Given the description of an element on the screen output the (x, y) to click on. 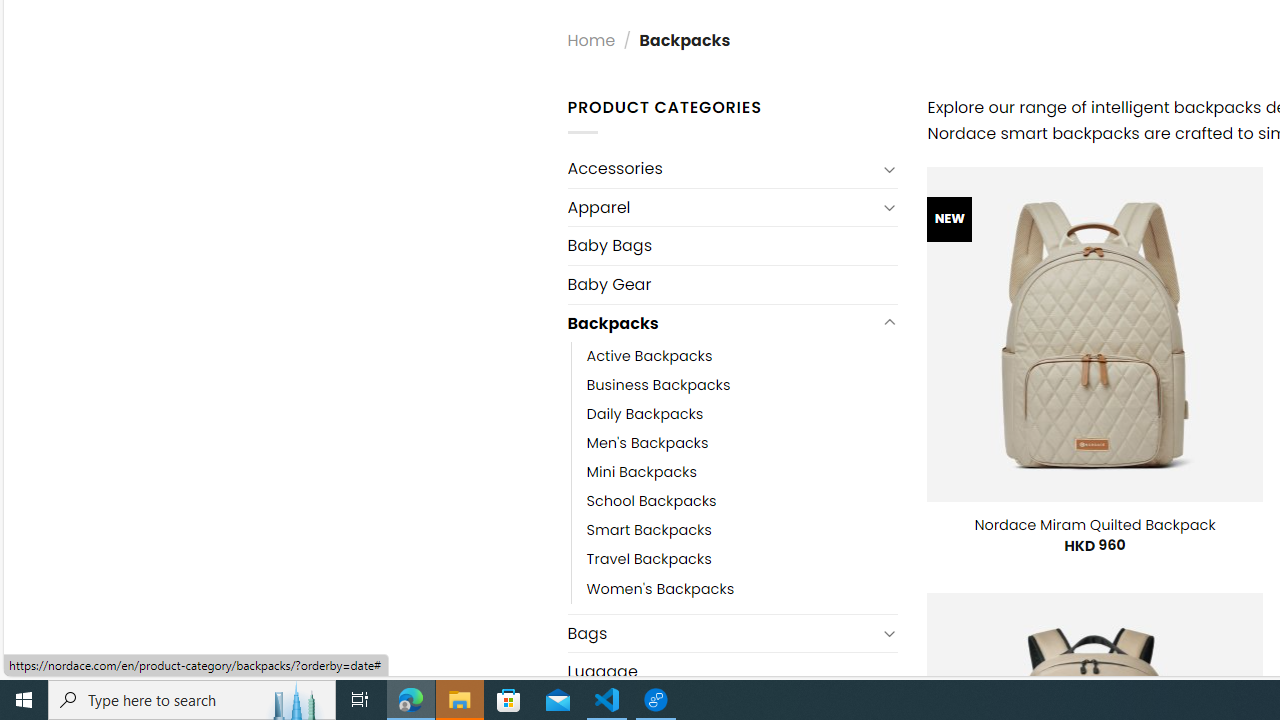
Apparel (721, 206)
Bags (721, 633)
Baby Gear (732, 283)
Home (591, 39)
Business Backpacks (742, 385)
Backpacks (721, 322)
Smart Backpacks (648, 530)
School Backpacks (742, 501)
Luggage (732, 672)
Travel Backpacks (648, 560)
School Backpacks (651, 501)
Daily Backpacks (742, 414)
Women's Backpacks (742, 588)
Mini Backpacks (742, 472)
